Given the description of an element on the screen output the (x, y) to click on. 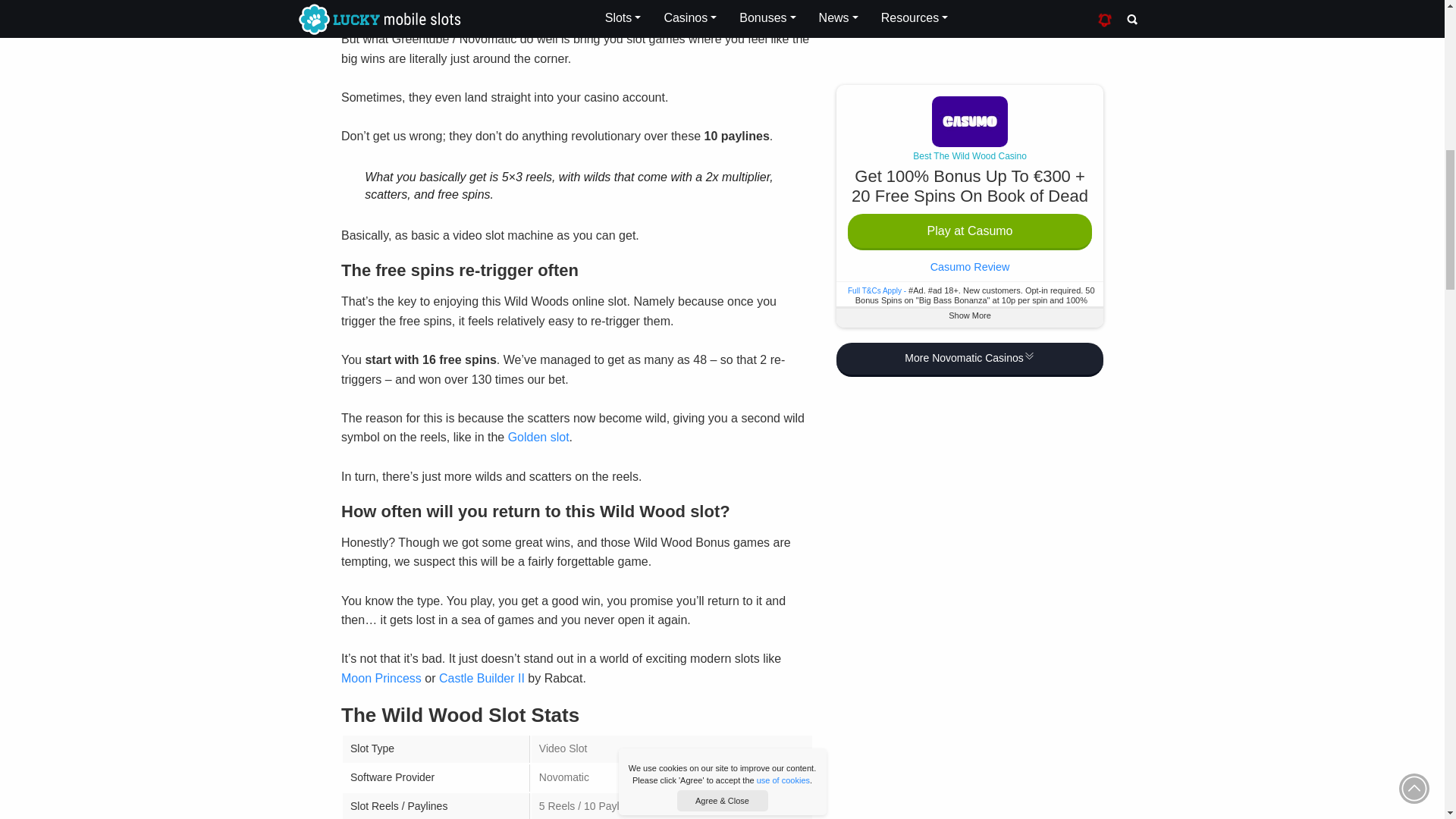
Golden Mobile Slot Review (538, 436)
Moon Princess Mobile Slot Review (381, 677)
Castle Builder 2 Mobile Slot Review (481, 677)
